Given the description of an element on the screen output the (x, y) to click on. 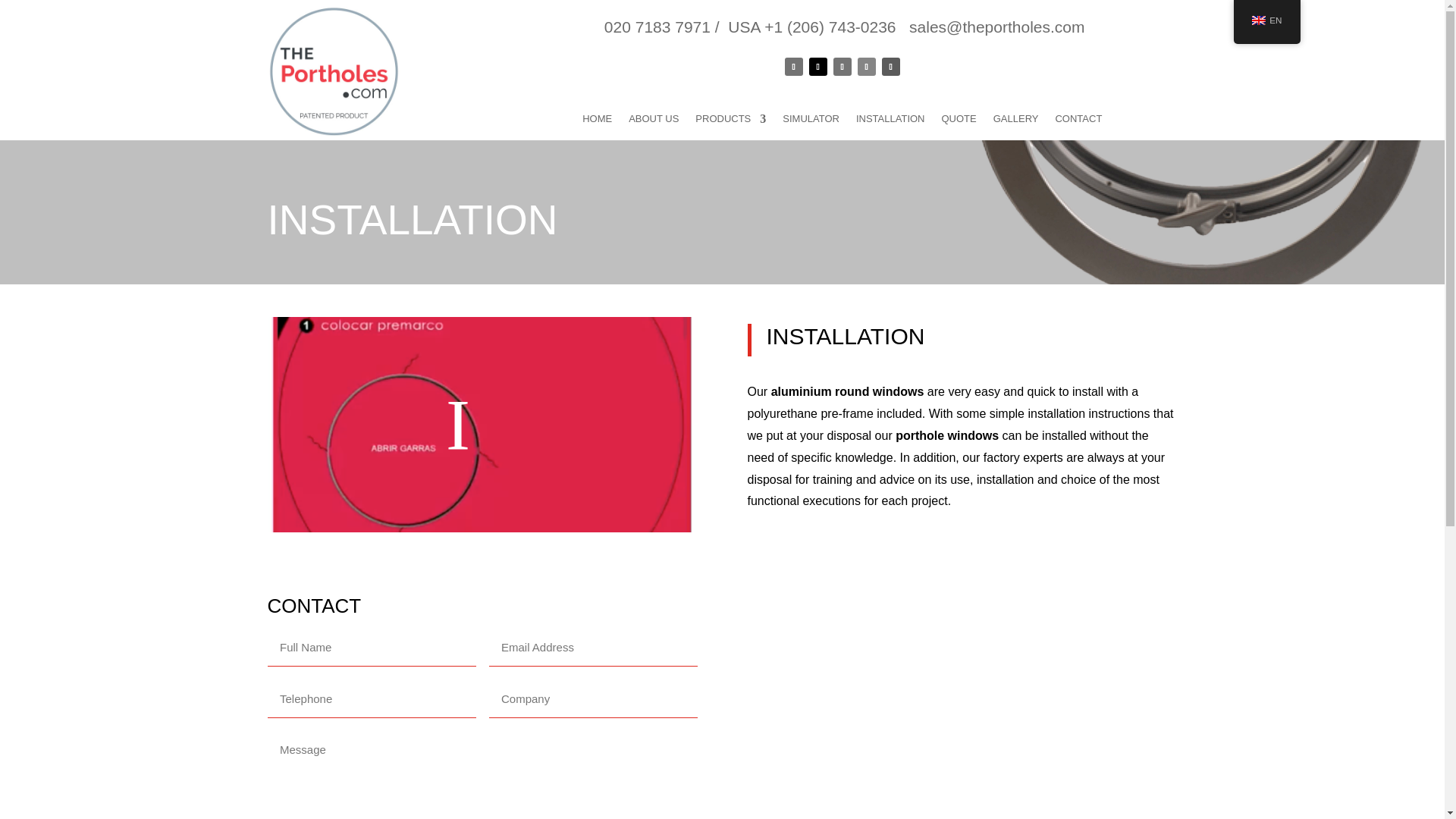
HOME (596, 121)
Follow on Facebook (793, 66)
ABOUT US (653, 121)
INSTALLATION (890, 121)
QUOTE (959, 121)
Minimum length: 10 characters.  (371, 647)
Follow on X (818, 66)
SIMULATOR (811, 121)
Follow on Instagram (841, 66)
Follow on LinkedIn (866, 66)
